Given the description of an element on the screen output the (x, y) to click on. 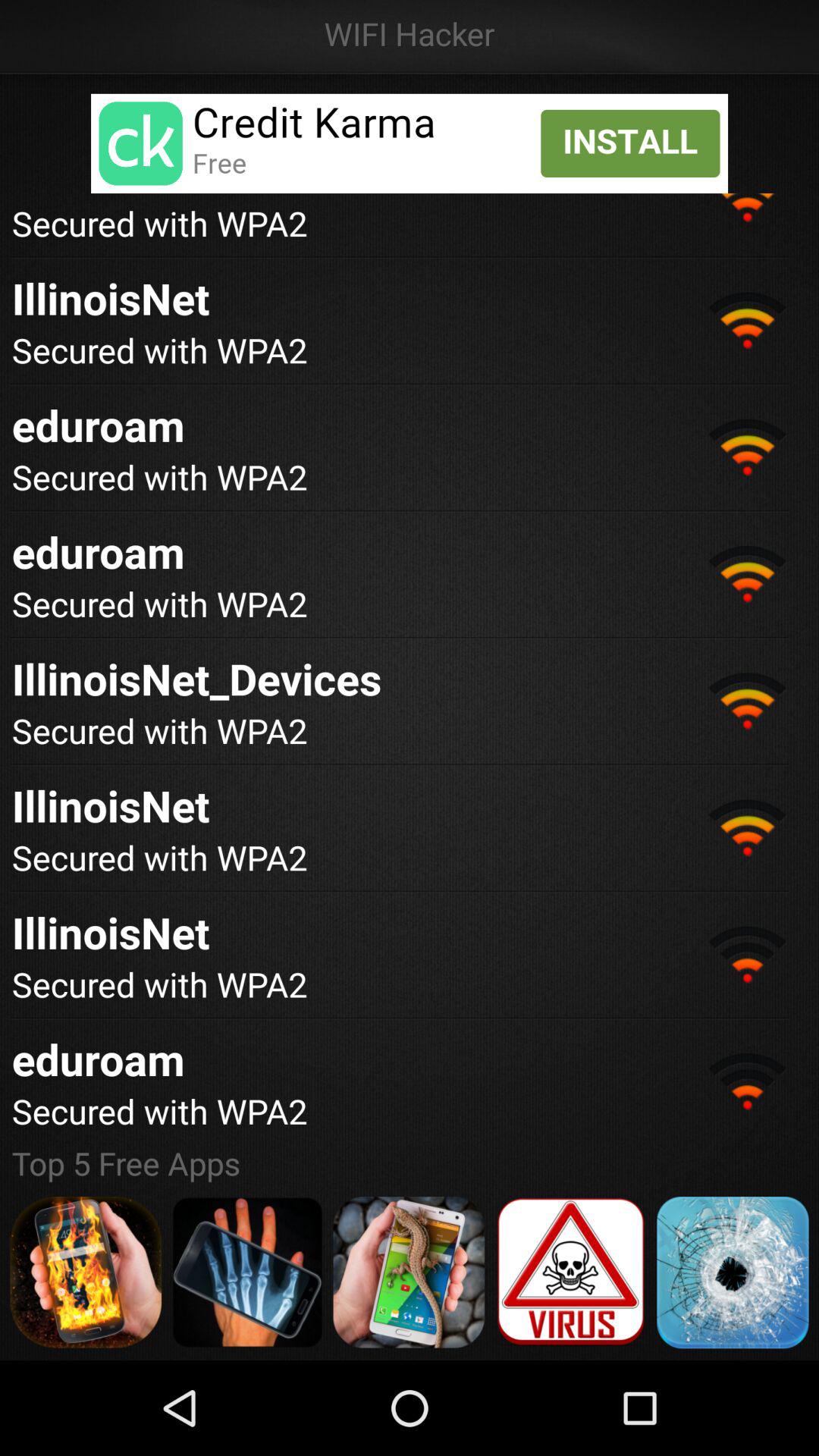
select the different option (408, 1271)
